Given the description of an element on the screen output the (x, y) to click on. 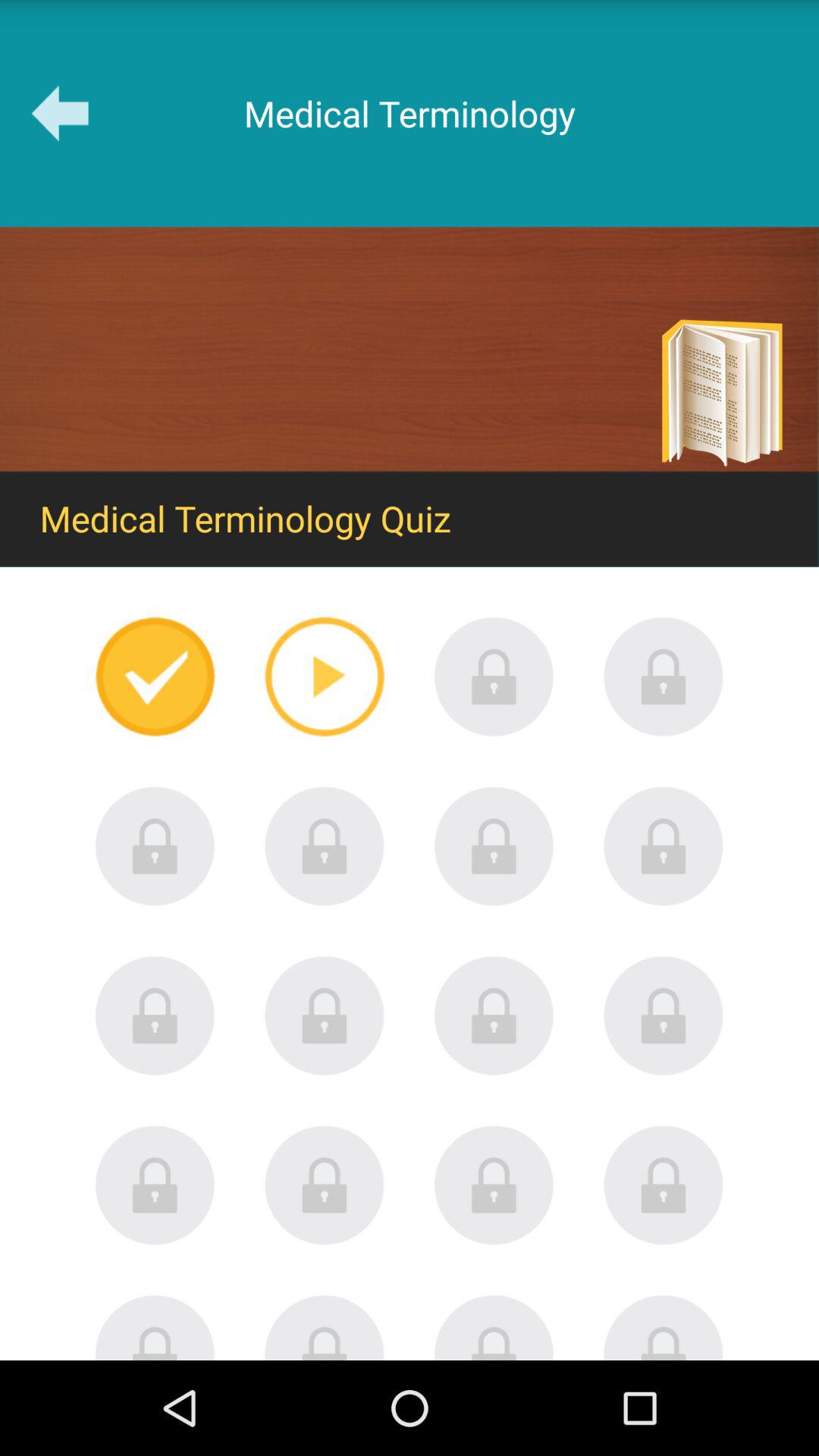
go to locked section (324, 846)
